Given the description of an element on the screen output the (x, y) to click on. 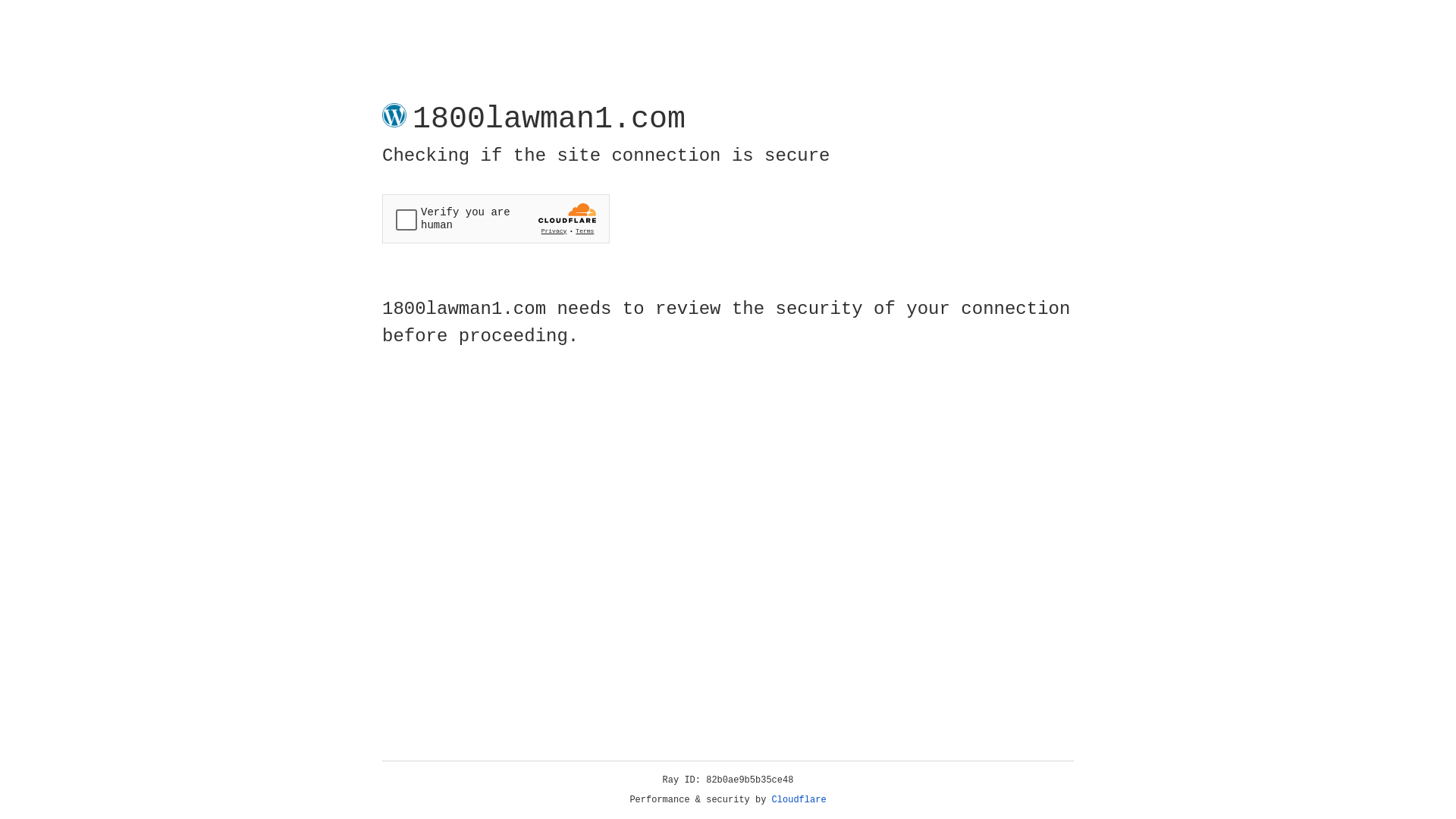
Widget containing a Cloudflare security challenge Element type: hover (495, 218)
Cloudflare Element type: text (798, 799)
